Given the description of an element on the screen output the (x, y) to click on. 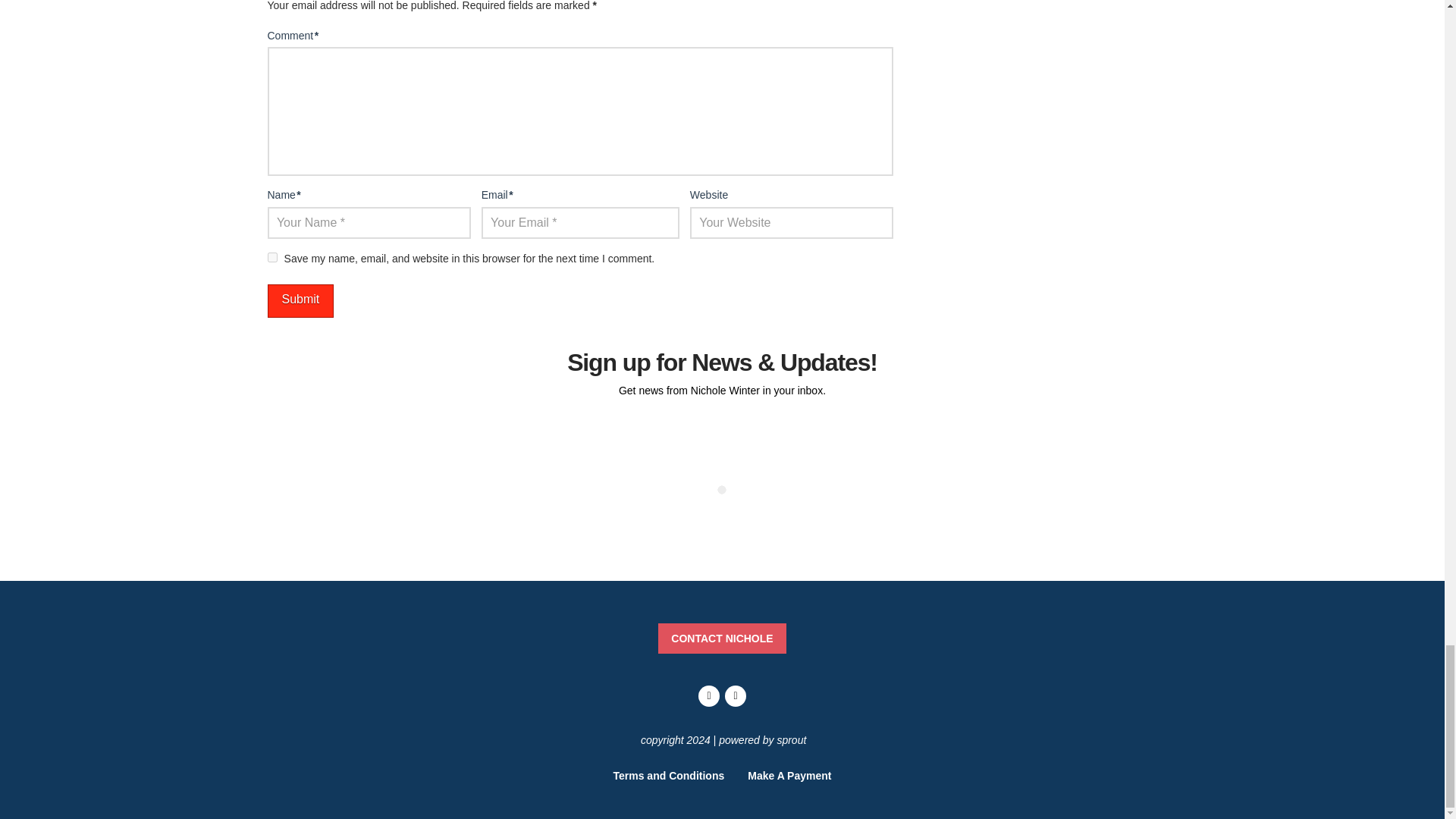
Submit (299, 301)
Terms and Conditions (668, 775)
CONTACT NICHOLE (722, 638)
Make A Payment (789, 775)
Submit (299, 301)
yes (271, 257)
powered by sprout (762, 739)
